Given the description of an element on the screen output the (x, y) to click on. 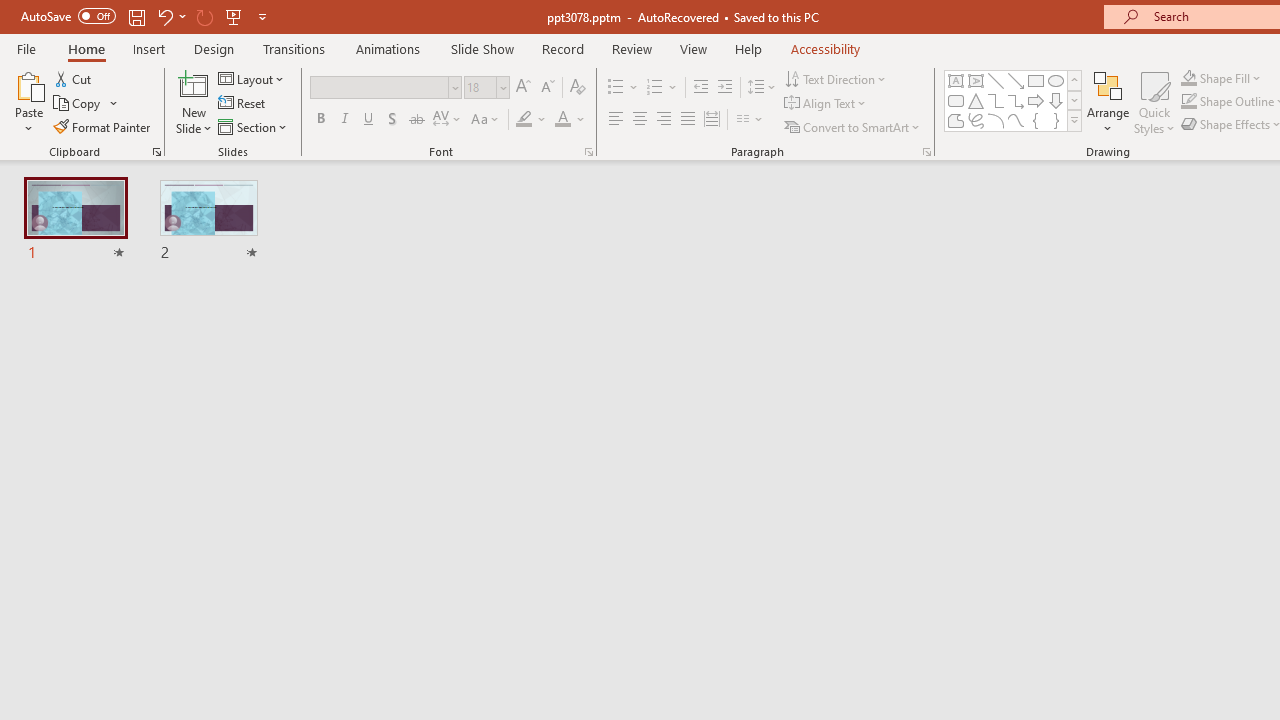
Shape Outline Green, Accent 1 (1188, 101)
